Given the description of an element on the screen output the (x, y) to click on. 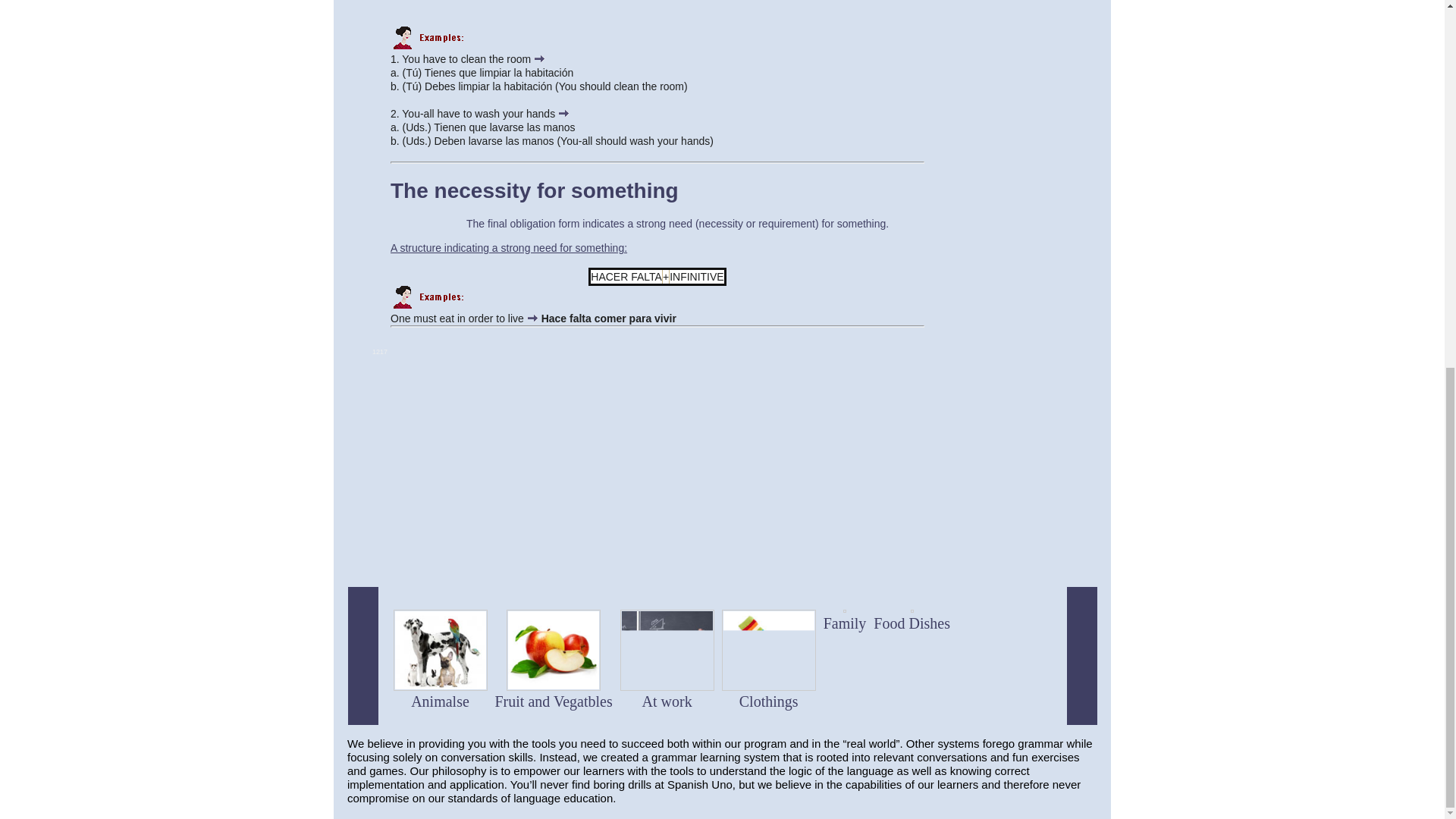
Food Dishes (911, 623)
Fruit and Vegatbles (553, 701)
At work (667, 701)
Advertisement (623, 537)
Family (845, 623)
Animalse (439, 701)
Clothings (768, 701)
